Given the description of an element on the screen output the (x, y) to click on. 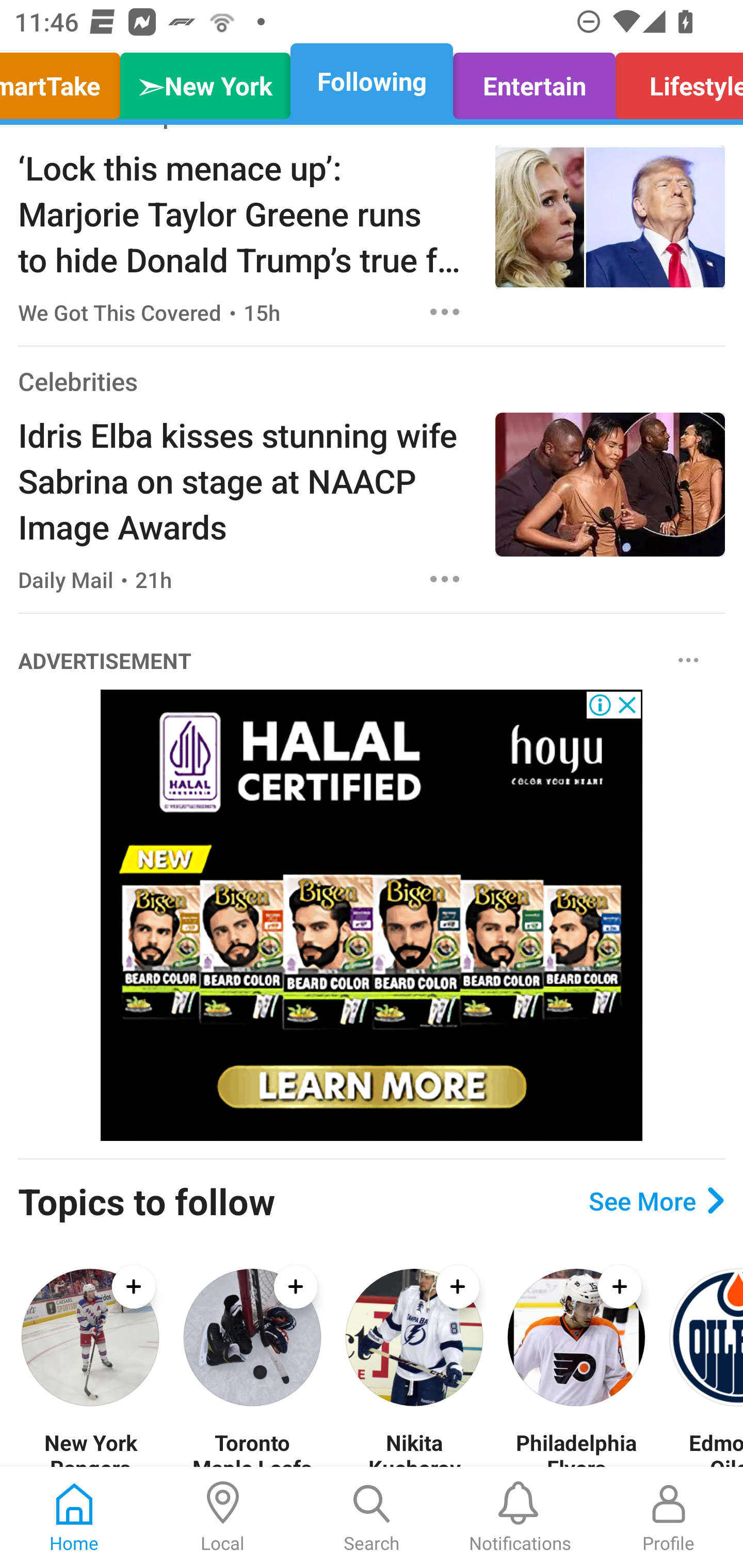
➣New York (205, 81)
Following (371, 81)
Entertain (534, 81)
Options (444, 311)
Celebrities (77, 380)
Options (444, 579)
Options (688, 660)
28 (371, 915)
See More (656, 1200)
New York Rangers (89, 1447)
Toronto Maple Leafs (251, 1447)
Nikita Kucherov (413, 1447)
Philadelphia Flyers (575, 1447)
Local (222, 1517)
Search (371, 1517)
Notifications (519, 1517)
Profile (668, 1517)
